Given the description of an element on the screen output the (x, y) to click on. 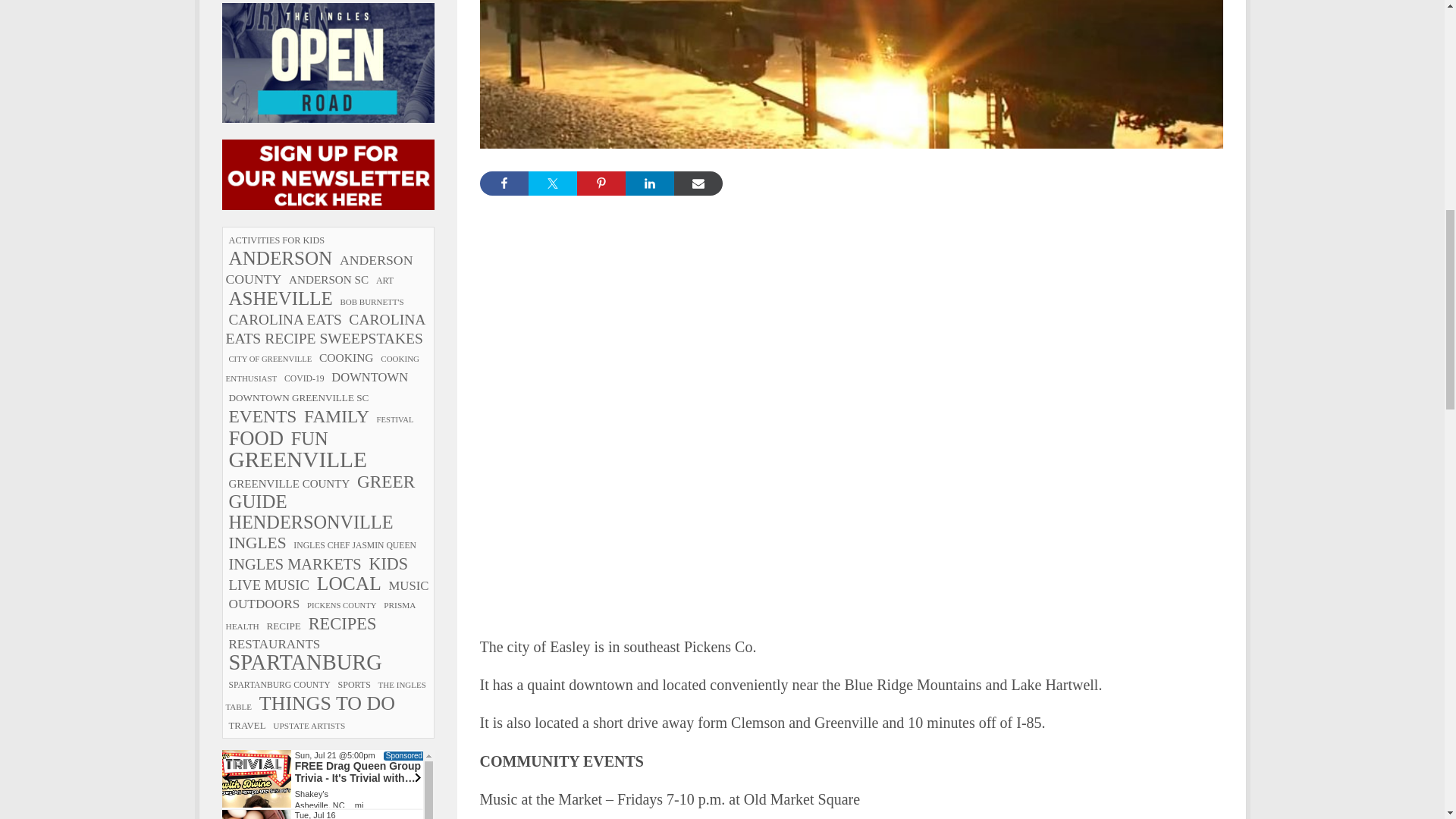
Share on LinkedIn (648, 183)
Share via Email (697, 183)
Share on Facebook (503, 183)
Share on Twitter (551, 183)
Share on Pinterest (600, 183)
